Given the description of an element on the screen output the (x, y) to click on. 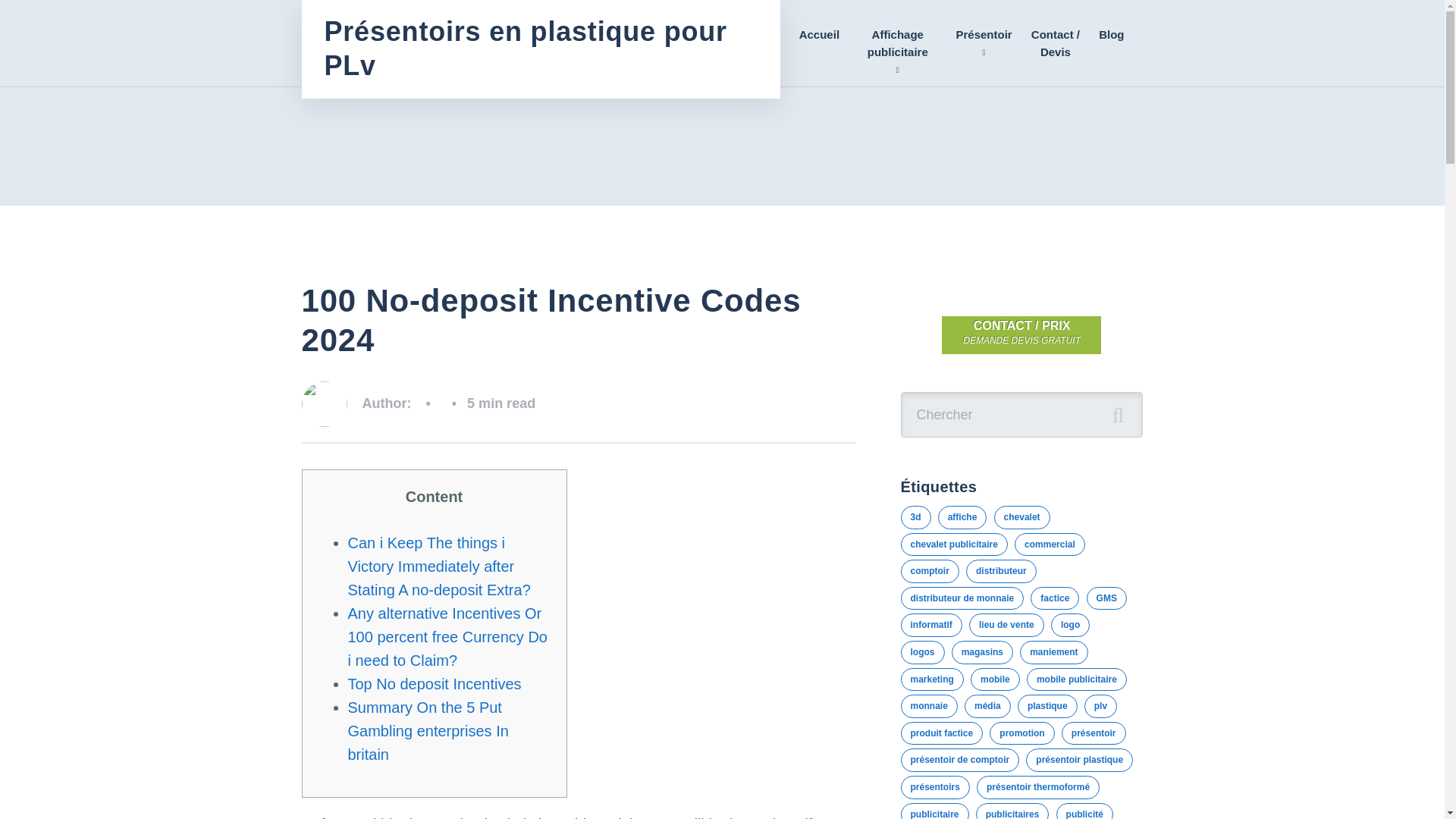
Affichage publicitaire (897, 43)
Summary On the 5 Put Gambling enterprises In britain (427, 730)
Top No deposit Incentives (434, 683)
